Given the description of an element on the screen output the (x, y) to click on. 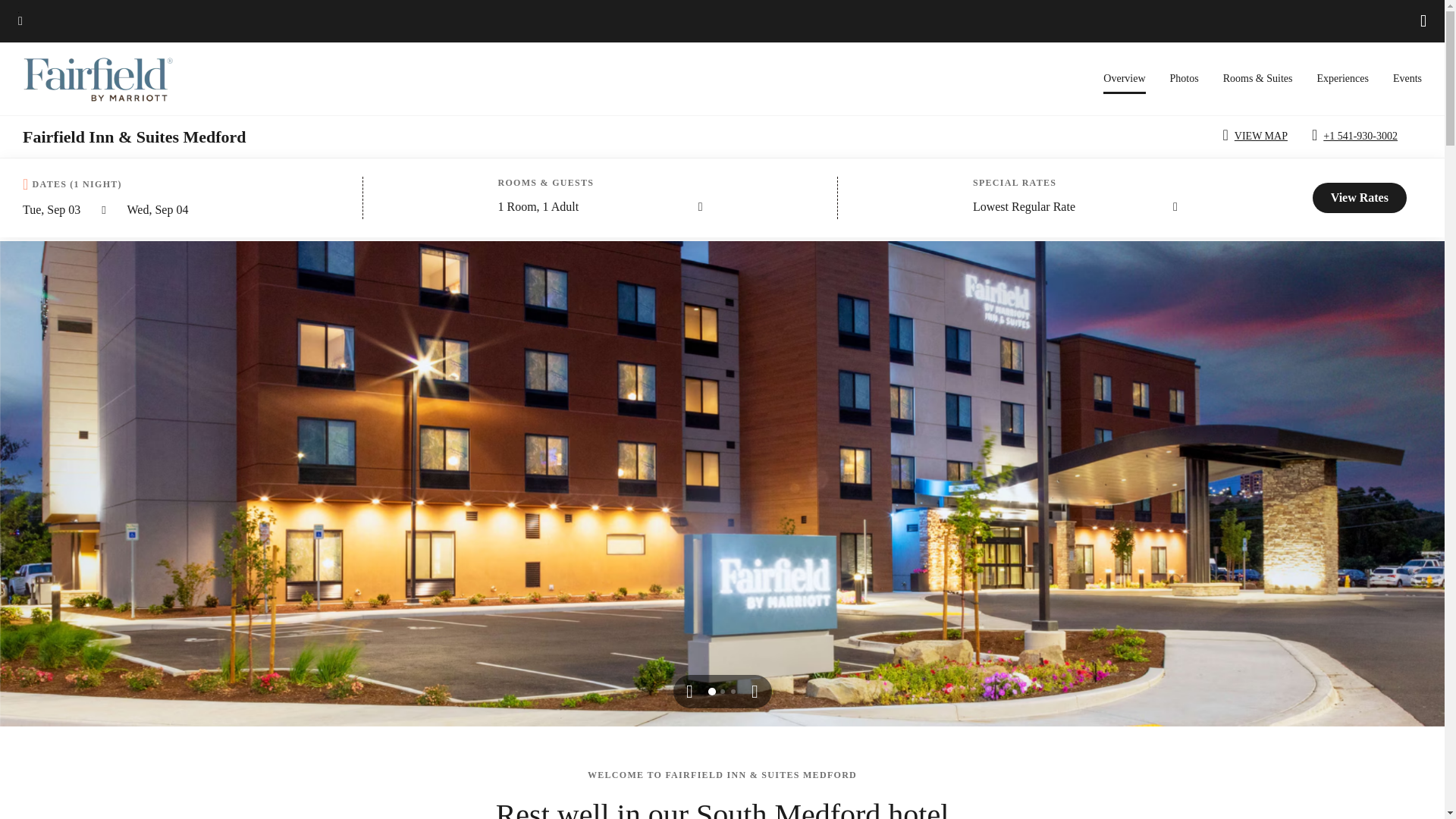
Events (1407, 78)
Experiences (1342, 78)
Overview (1123, 83)
VIEW MAP (1257, 136)
Photos (1184, 78)
